Given the description of an element on the screen output the (x, y) to click on. 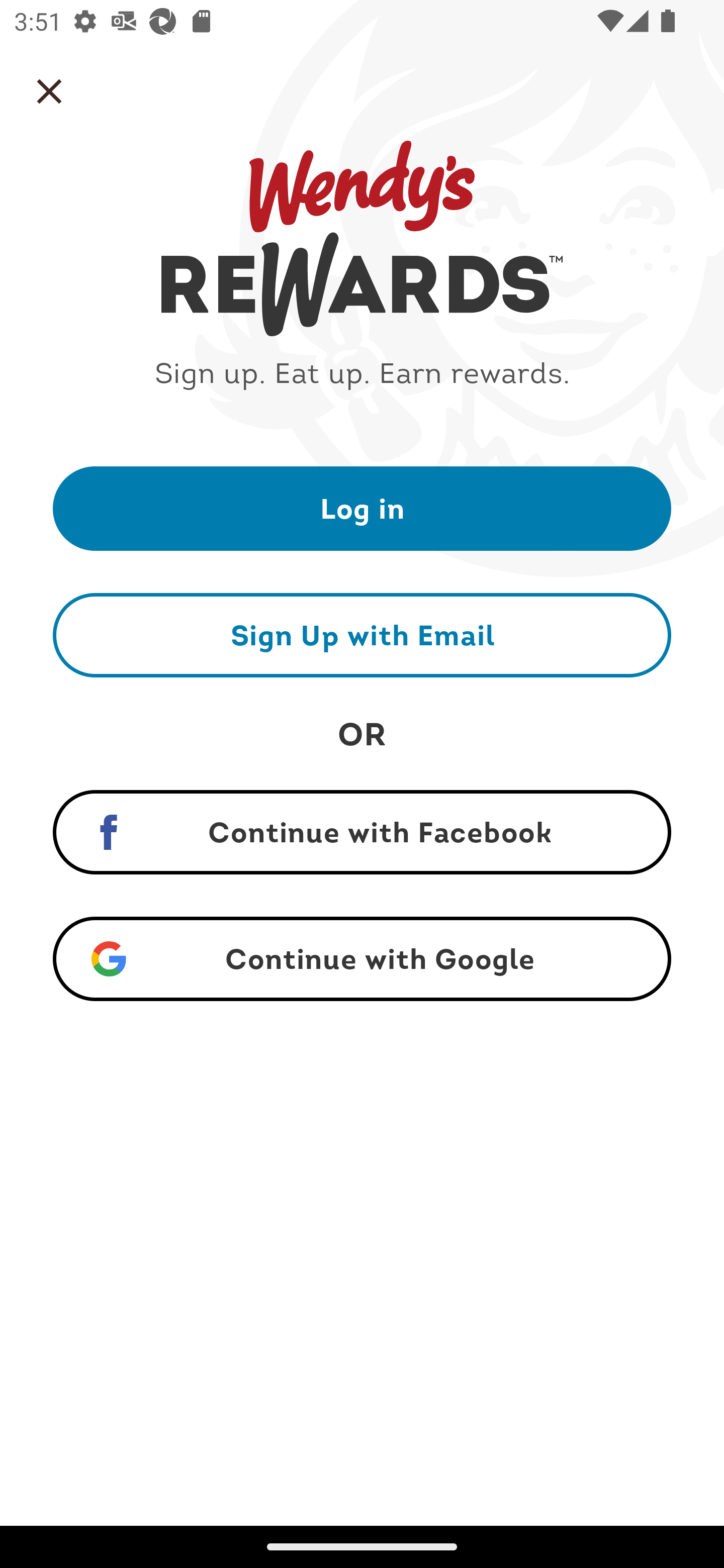
close (49, 91)
Log in (361, 507)
Sign Up with Email (361, 634)
Continue with Facebook (361, 832)
Continue with Google (361, 958)
